Given the description of an element on the screen output the (x, y) to click on. 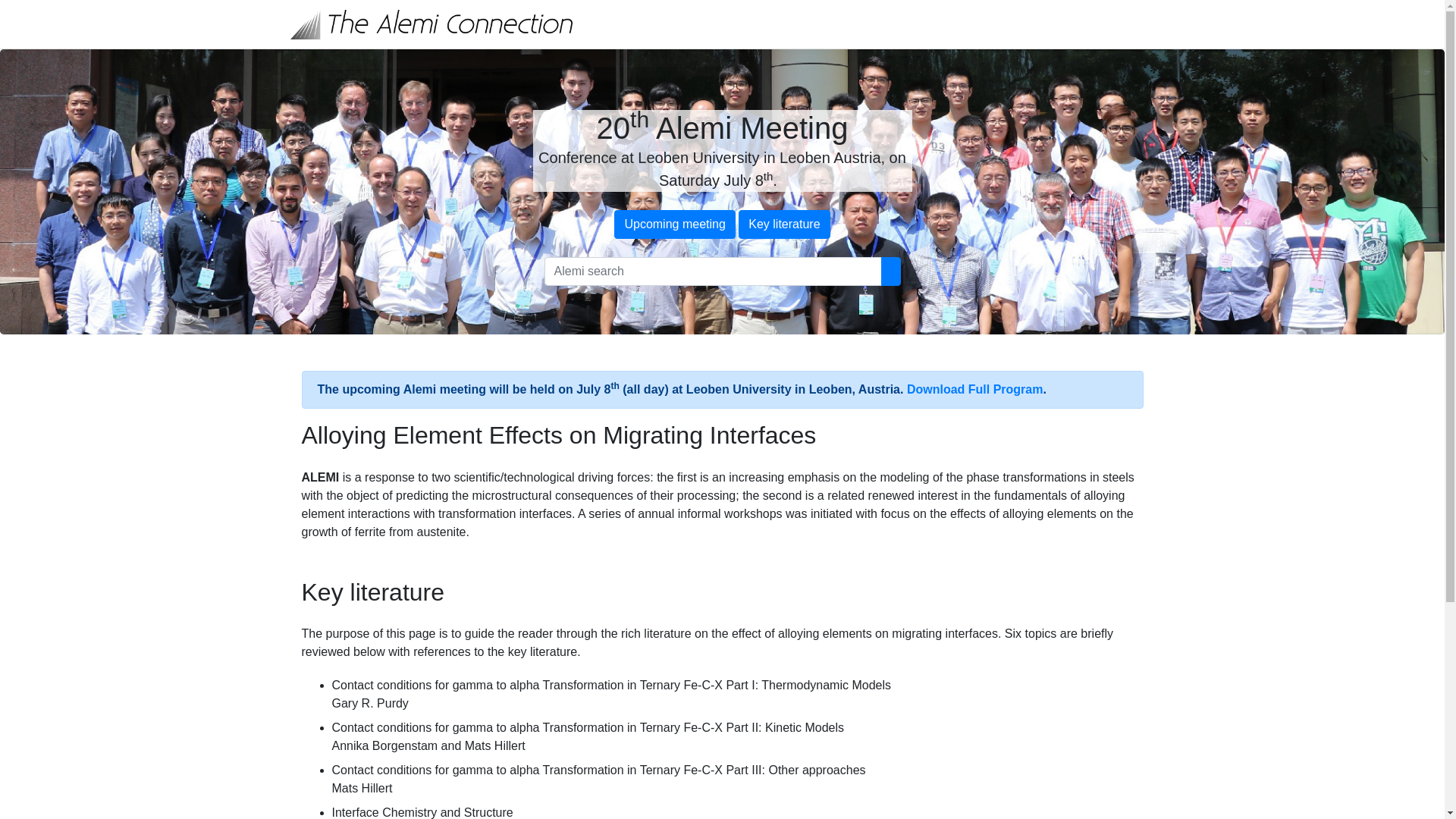
Download Full Program Element type: text (974, 388)
Key literature Element type: text (783, 224)
Upcoming meeting Element type: text (674, 224)
